Given the description of an element on the screen output the (x, y) to click on. 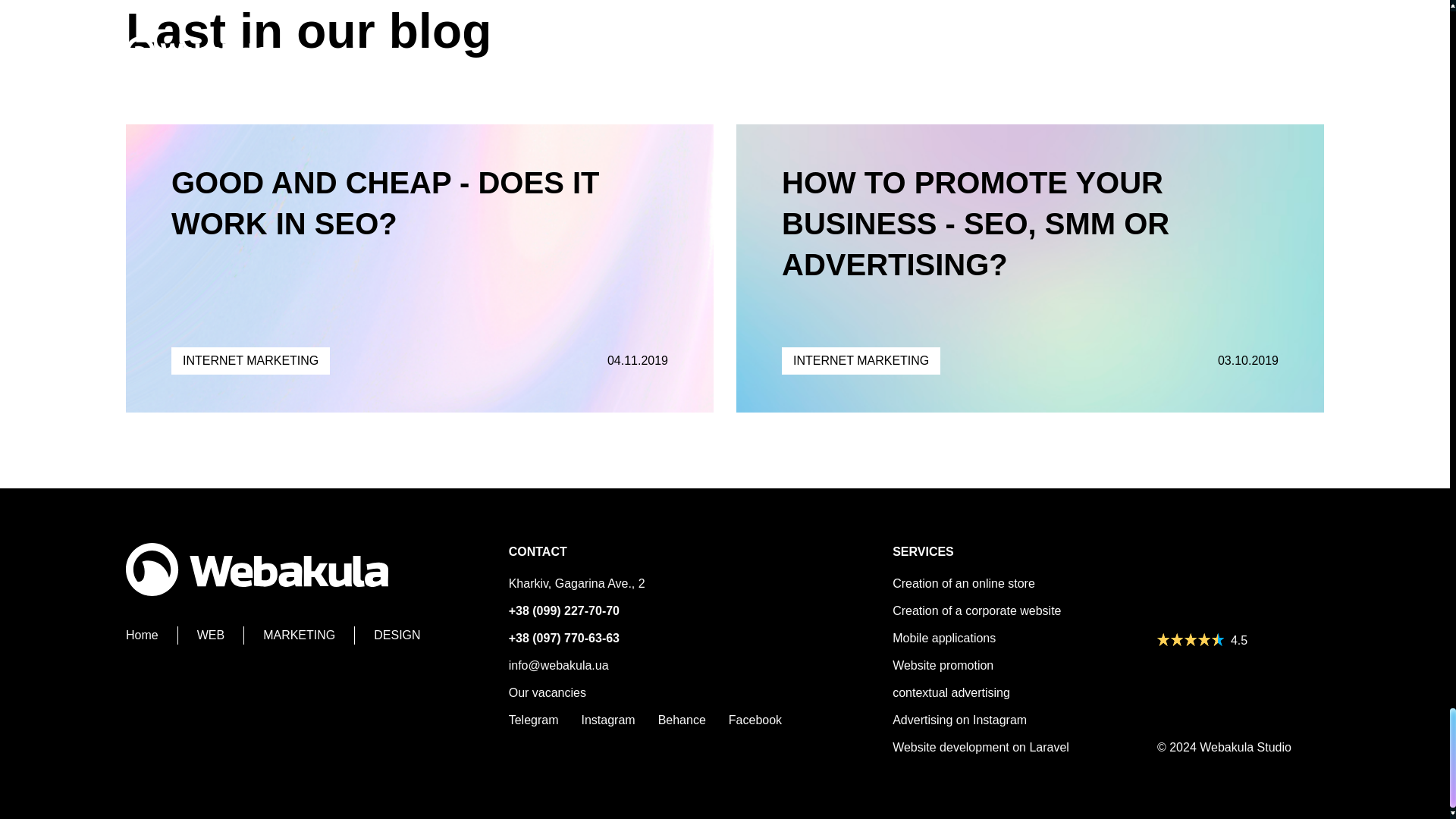
GOOD AND CHEAP - DOES IT WORK IN SEO? (385, 203)
WEB (220, 635)
MARKETING (309, 635)
Home (151, 635)
HOW TO PROMOTE YOUR BUSINESS - SEO, SMM OR ADVERTISING? (975, 223)
